Given the description of an element on the screen output the (x, y) to click on. 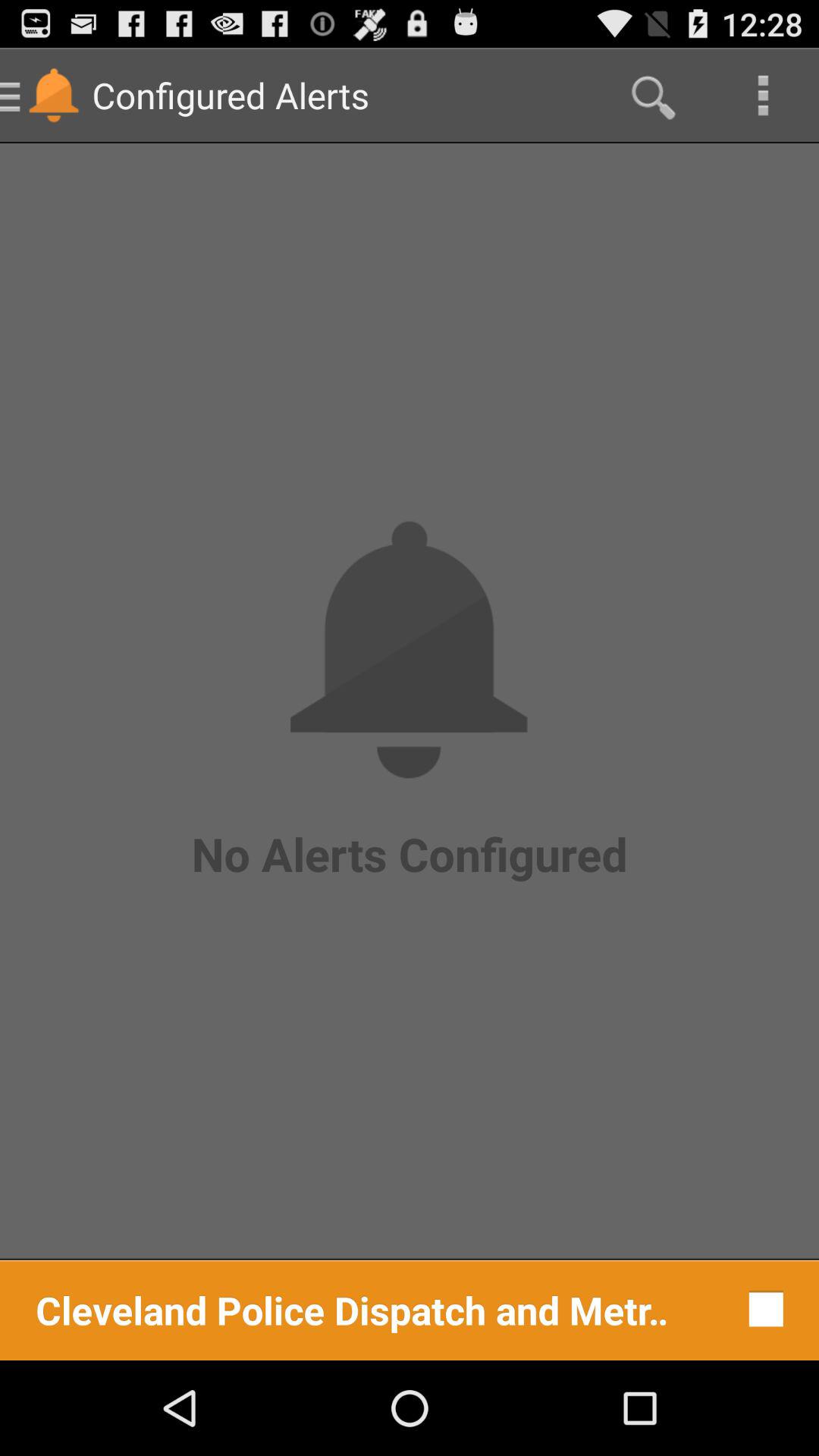
tap the item next to the configured alerts app (651, 95)
